Given the description of an element on the screen output the (x, y) to click on. 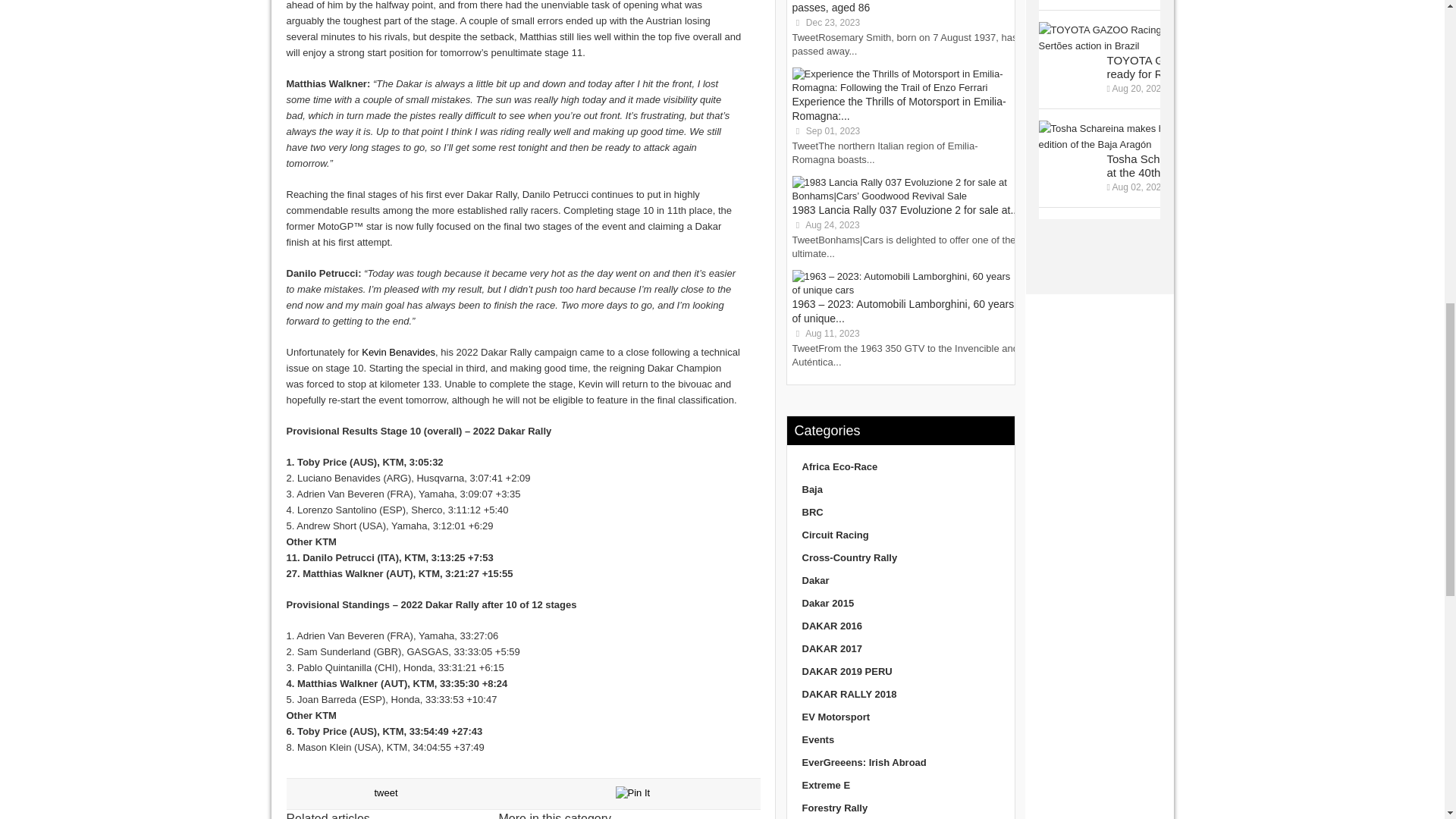
tweet (385, 792)
Kevin Benavides (398, 351)
Pin It (632, 793)
